Given the description of an element on the screen output the (x, y) to click on. 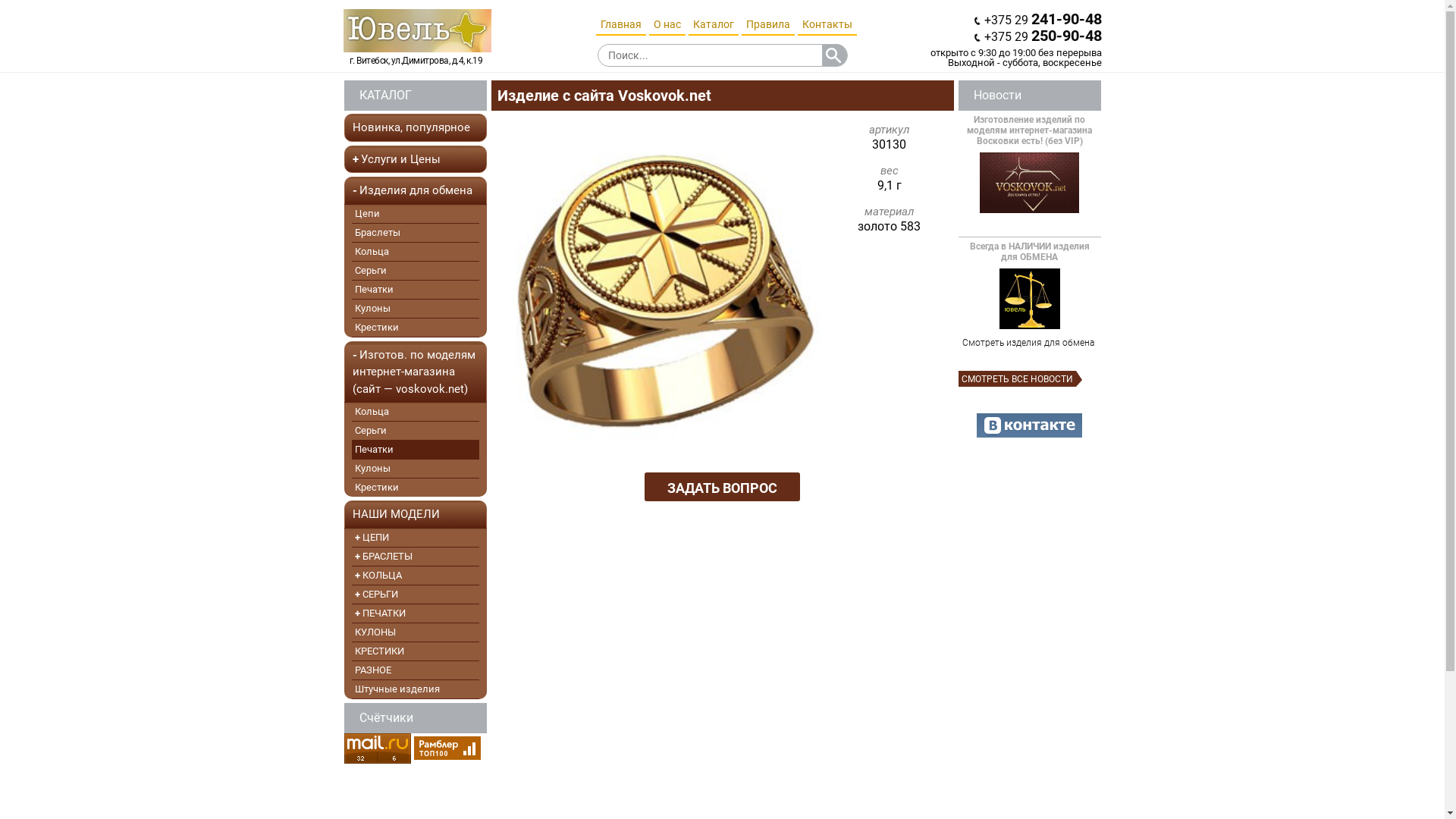
GO Element type: text (834, 54)
Rambler's Top100 Element type: hover (447, 747)
